Given the description of an element on the screen output the (x, y) to click on. 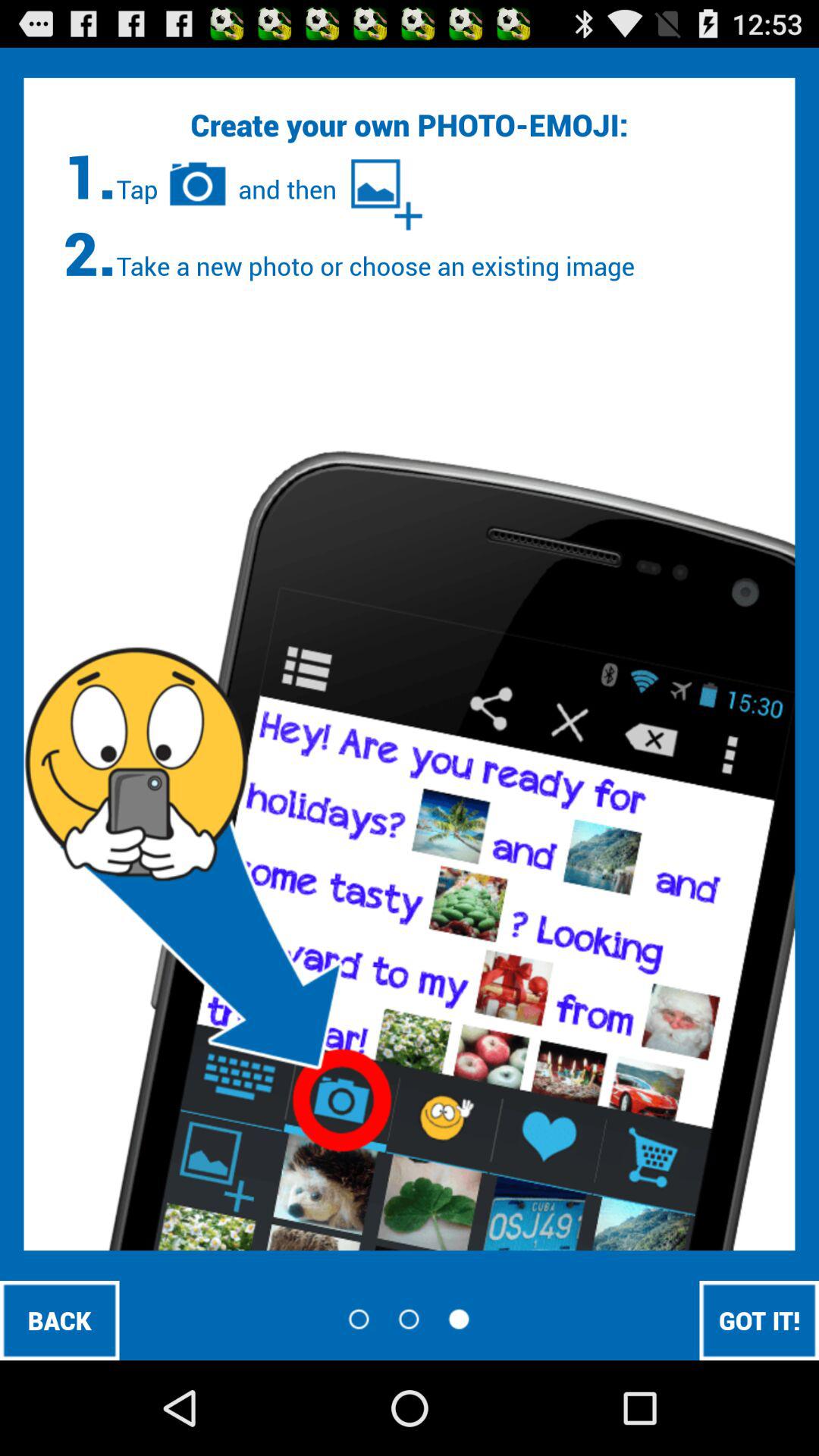
click icon at the bottom right corner (759, 1320)
